Given the description of an element on the screen output the (x, y) to click on. 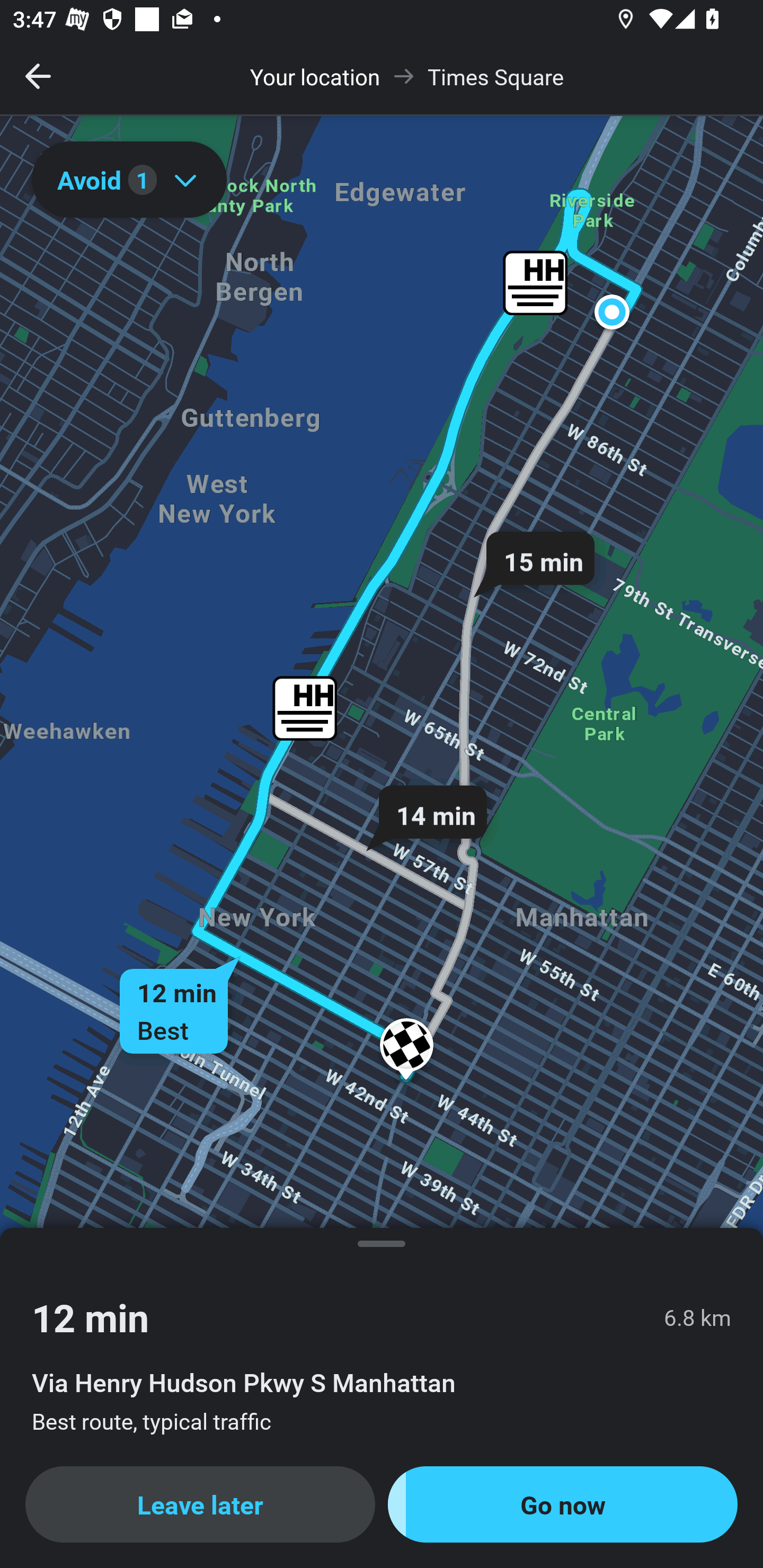
Leave later (200, 1504)
Go now (562, 1504)
